Given the description of an element on the screen output the (x, y) to click on. 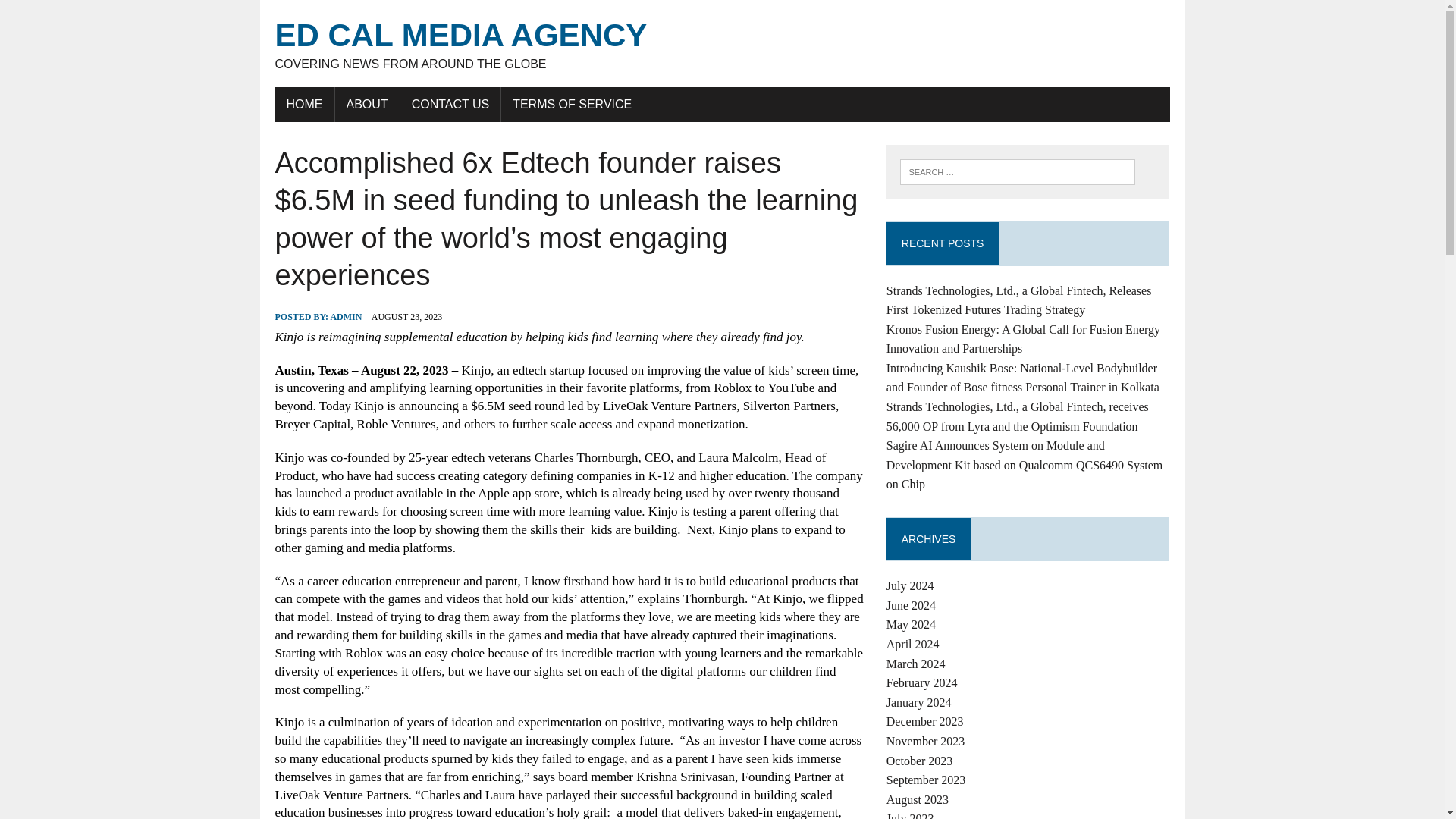
HOME (304, 104)
September 2023 (925, 779)
July 2023 (910, 815)
July 2024 (910, 585)
CONTACT US (450, 104)
Search (75, 14)
ABOUT (366, 104)
December 2023 (924, 721)
October 2023 (919, 760)
January 2024 (919, 702)
April 2024 (912, 644)
June 2024 (911, 604)
